Given the description of an element on the screen output the (x, y) to click on. 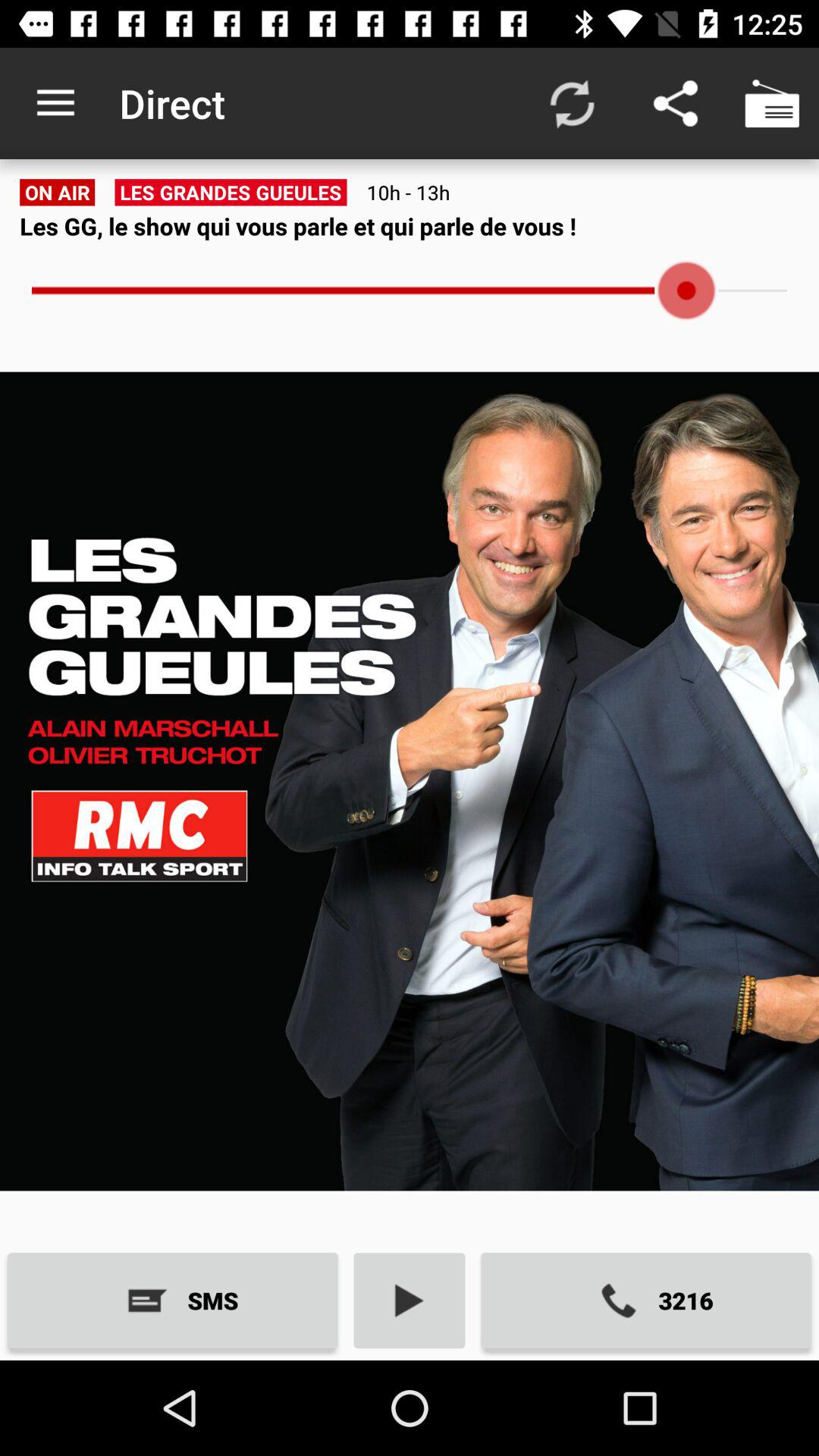
jump until 3216 icon (646, 1300)
